Given the description of an element on the screen output the (x, y) to click on. 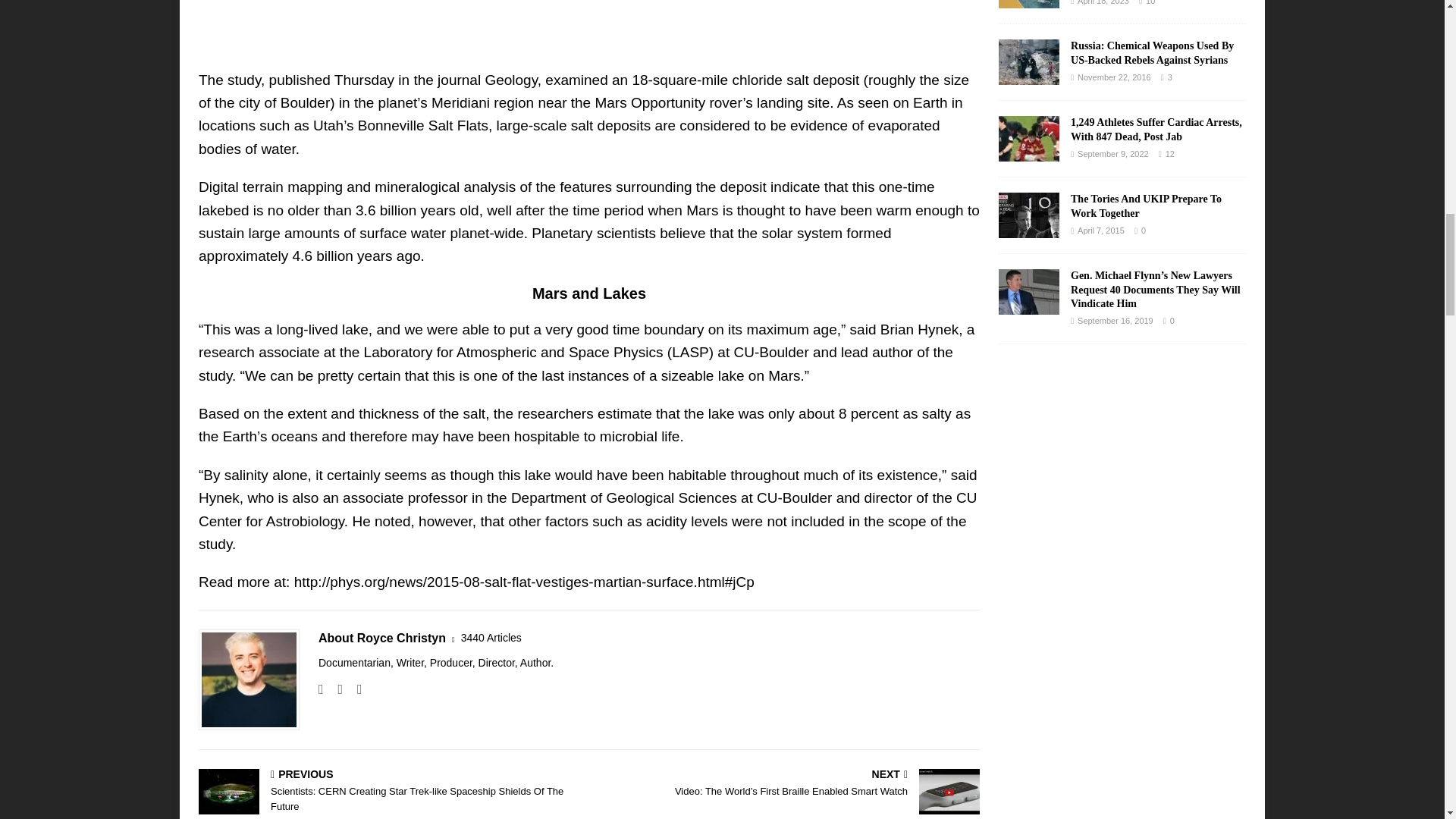
Follow Royce Christyn on Twitter (354, 689)
Follow Royce Christyn on Instagram (334, 689)
More articles written by Royce Christyn' (491, 637)
